Given the description of an element on the screen output the (x, y) to click on. 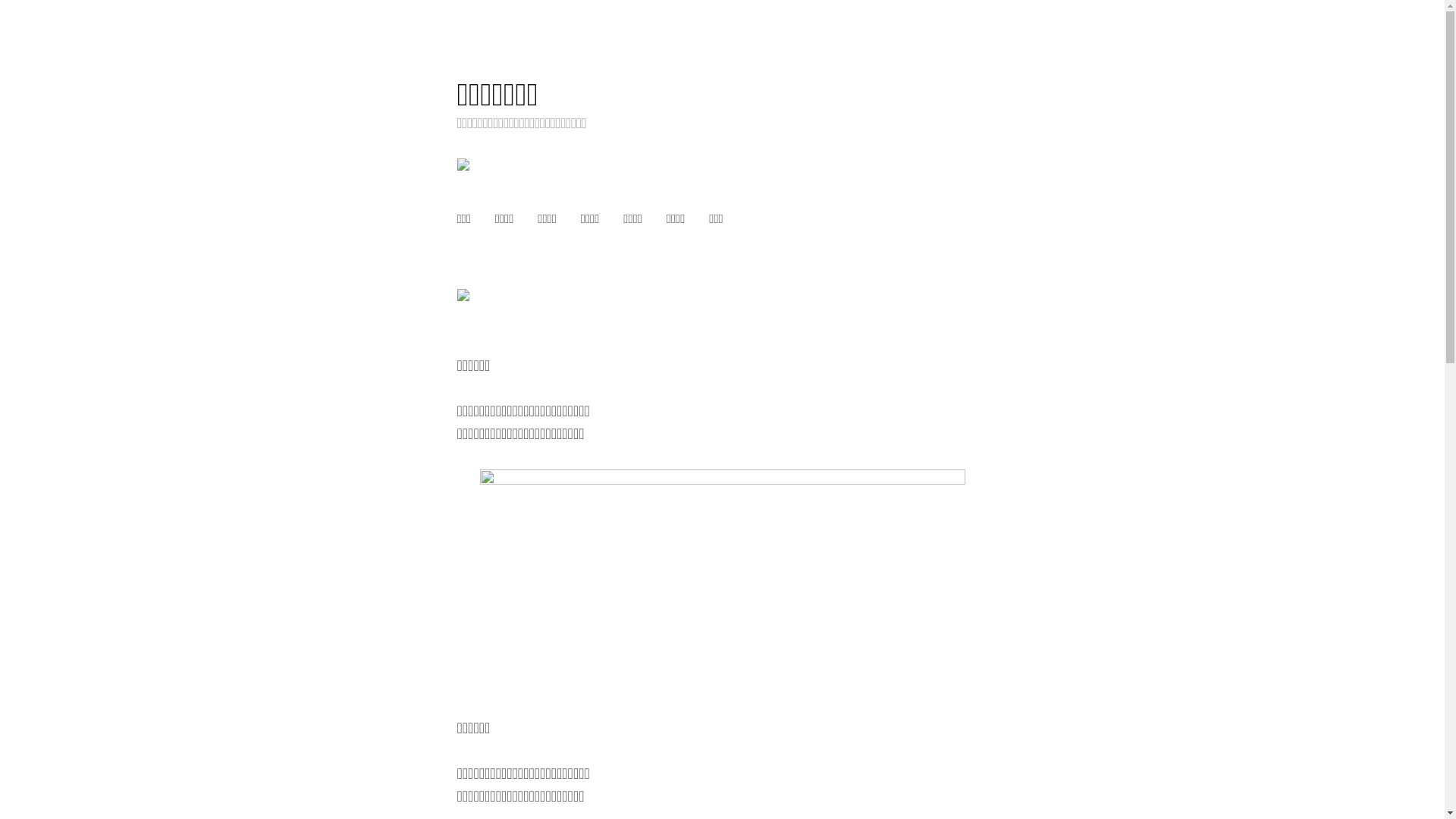
Search Element type: text (17, 16)
Skip to content Element type: text (456, 75)
